Given the description of an element on the screen output the (x, y) to click on. 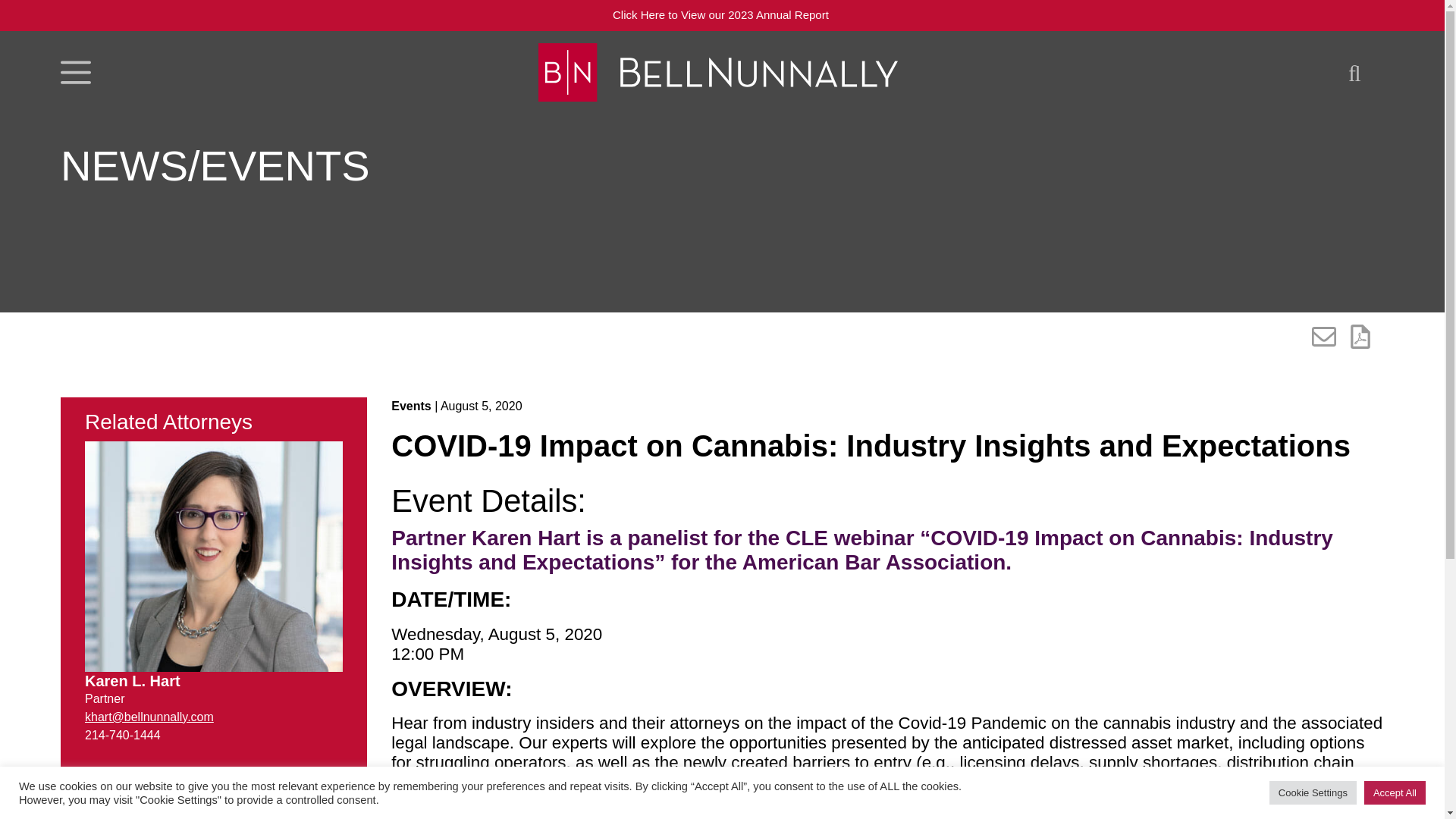
Share this page (1323, 336)
Print to PDF (1360, 336)
214-740-1444 (122, 735)
Email (149, 716)
Direct Phone (122, 735)
Accept All (1394, 792)
Cookie Settings (1312, 792)
